Given the description of an element on the screen output the (x, y) to click on. 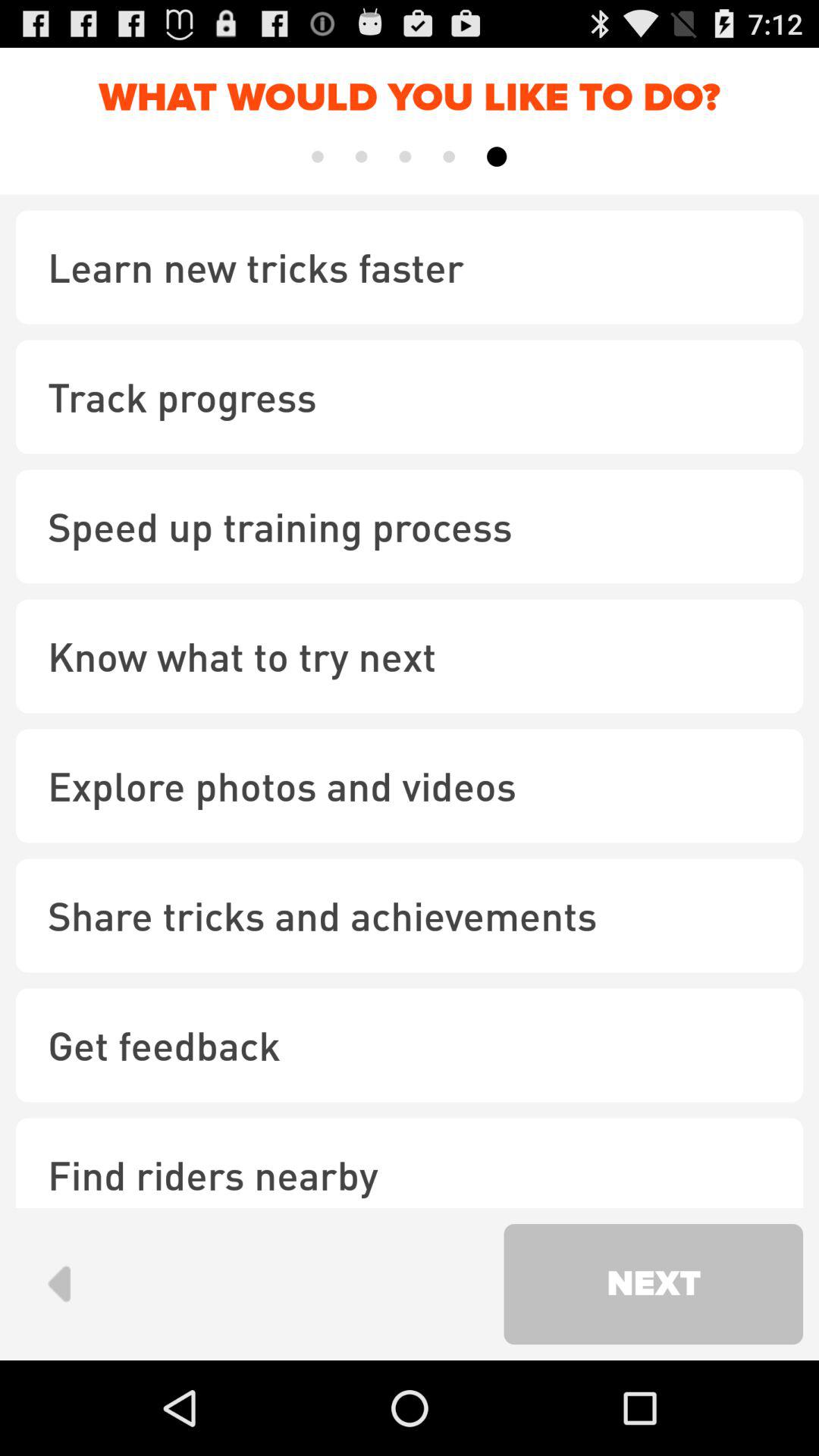
launch item below the share tricks and checkbox (409, 1045)
